Given the description of an element on the screen output the (x, y) to click on. 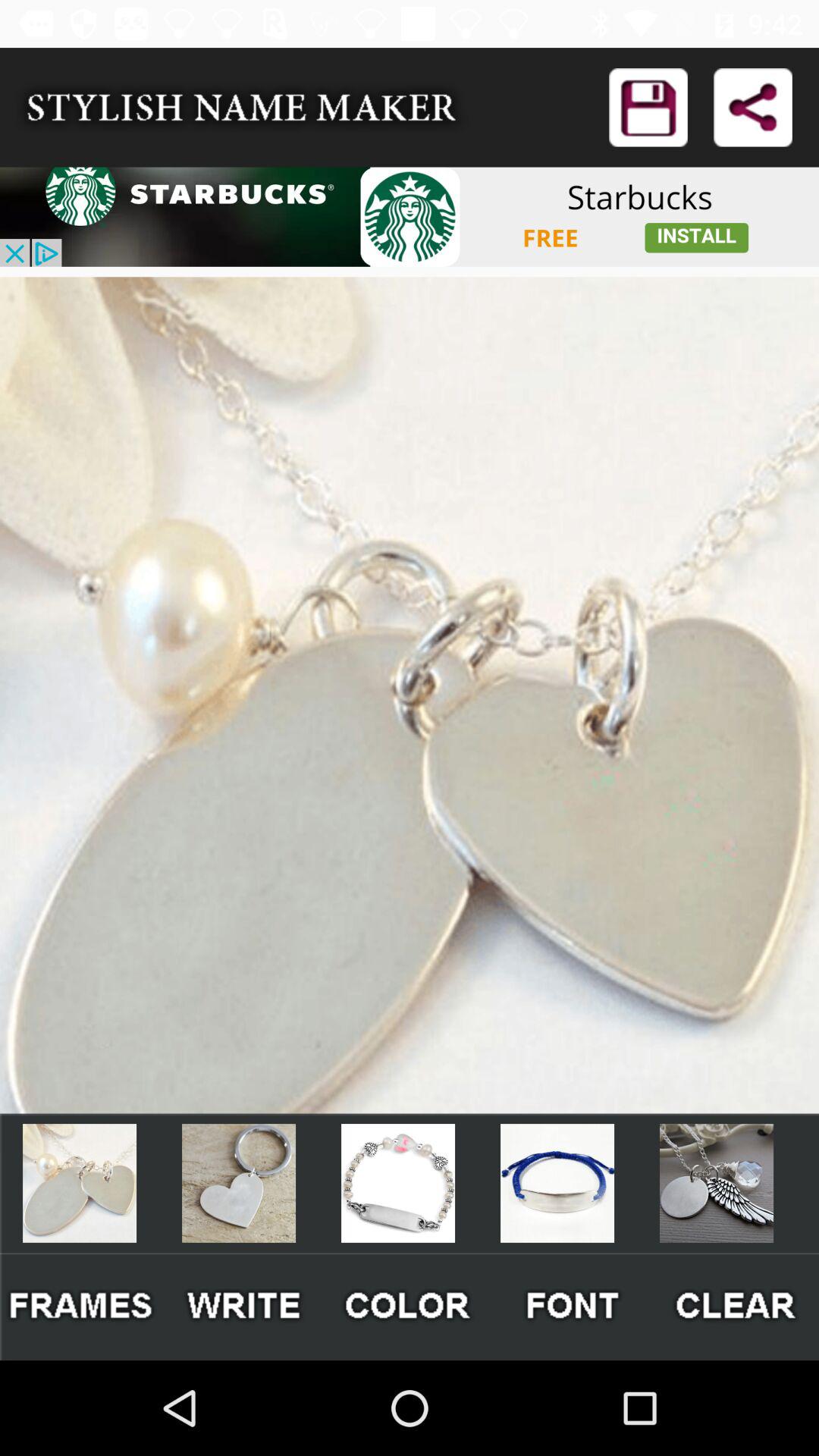
go to starbucks website (409, 216)
